Given the description of an element on the screen output the (x, y) to click on. 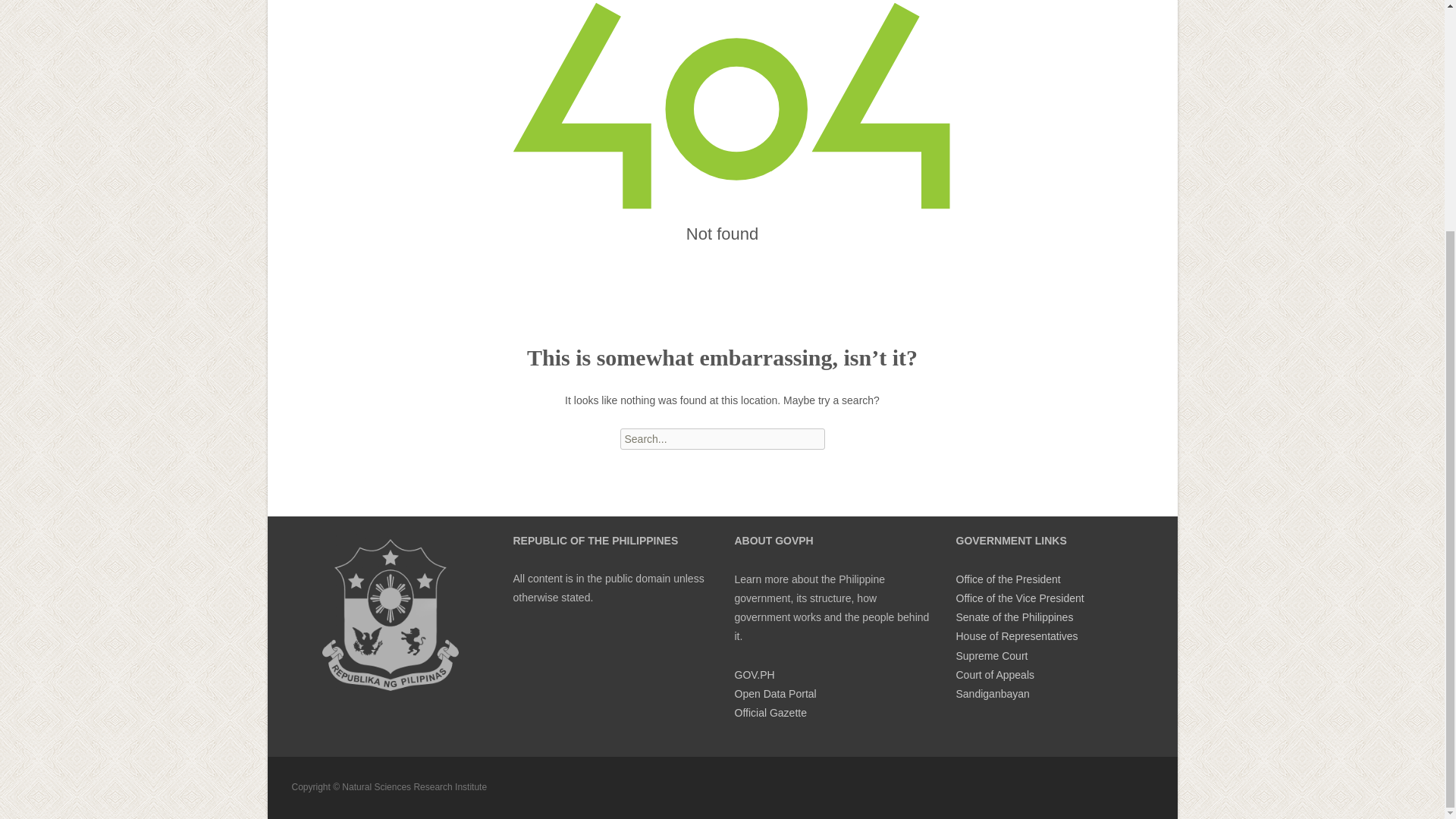
Office of the Vice President (1019, 598)
Sandiganbayan (992, 693)
Senate of the Philippines (1014, 616)
Office of the President (1007, 579)
GOV.PH (753, 674)
Official Gazette (769, 712)
House of Representatives (1016, 635)
Search for: (722, 438)
Court of Appeals (994, 674)
Supreme Court (991, 655)
